Given the description of an element on the screen output the (x, y) to click on. 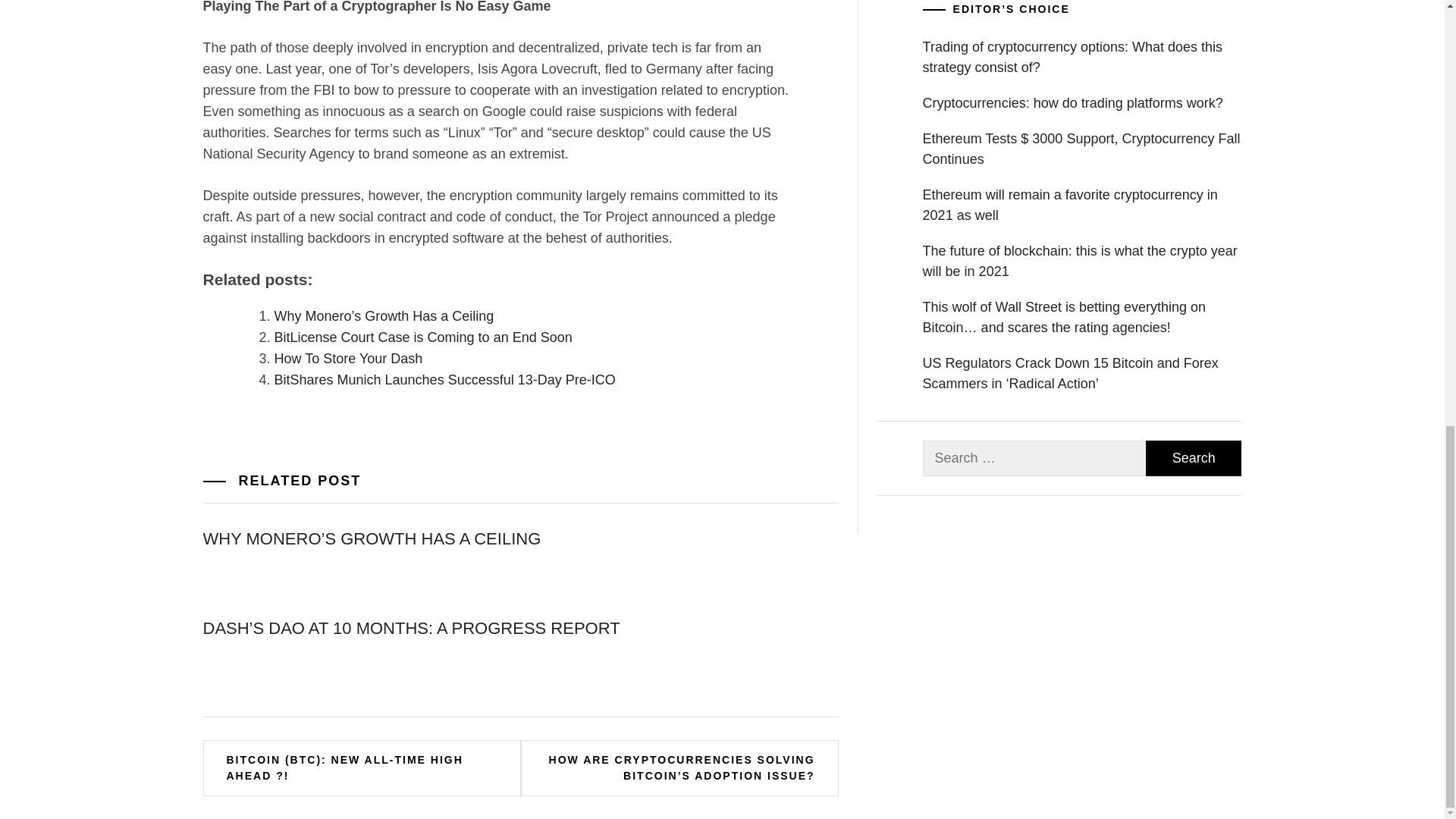
BitLicense Court Case is Coming to an End Soon (423, 337)
How To Store Your Dash (349, 358)
Search (1193, 457)
BitShares Munich Launches Successful 13-Day Pre-ICO (445, 379)
How To Store Your Dash (349, 358)
BitShares Munich Launches Successful 13-Day Pre-ICO (445, 379)
BitLicense Court Case is Coming to an End Soon (423, 337)
Search (1193, 457)
